Given the description of an element on the screen output the (x, y) to click on. 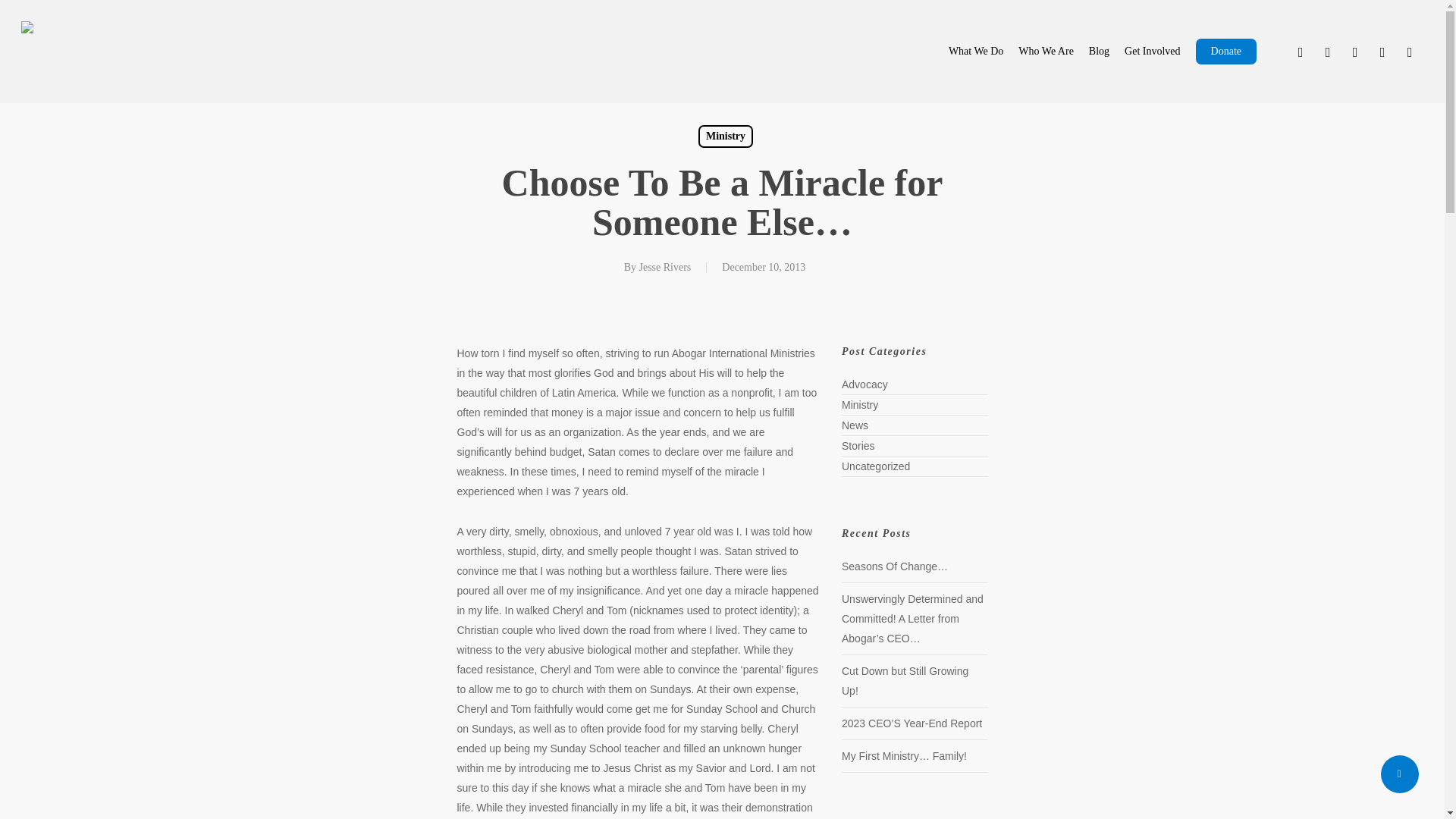
twitter (1300, 51)
Ministry (914, 404)
Get Involved (1151, 51)
facebook (1327, 51)
Stories (914, 445)
Uncategorized (914, 466)
Posts by Jesse Rivers (664, 266)
What We Do (976, 51)
Who We Are (1045, 51)
Donate (1225, 51)
